Given the description of an element on the screen output the (x, y) to click on. 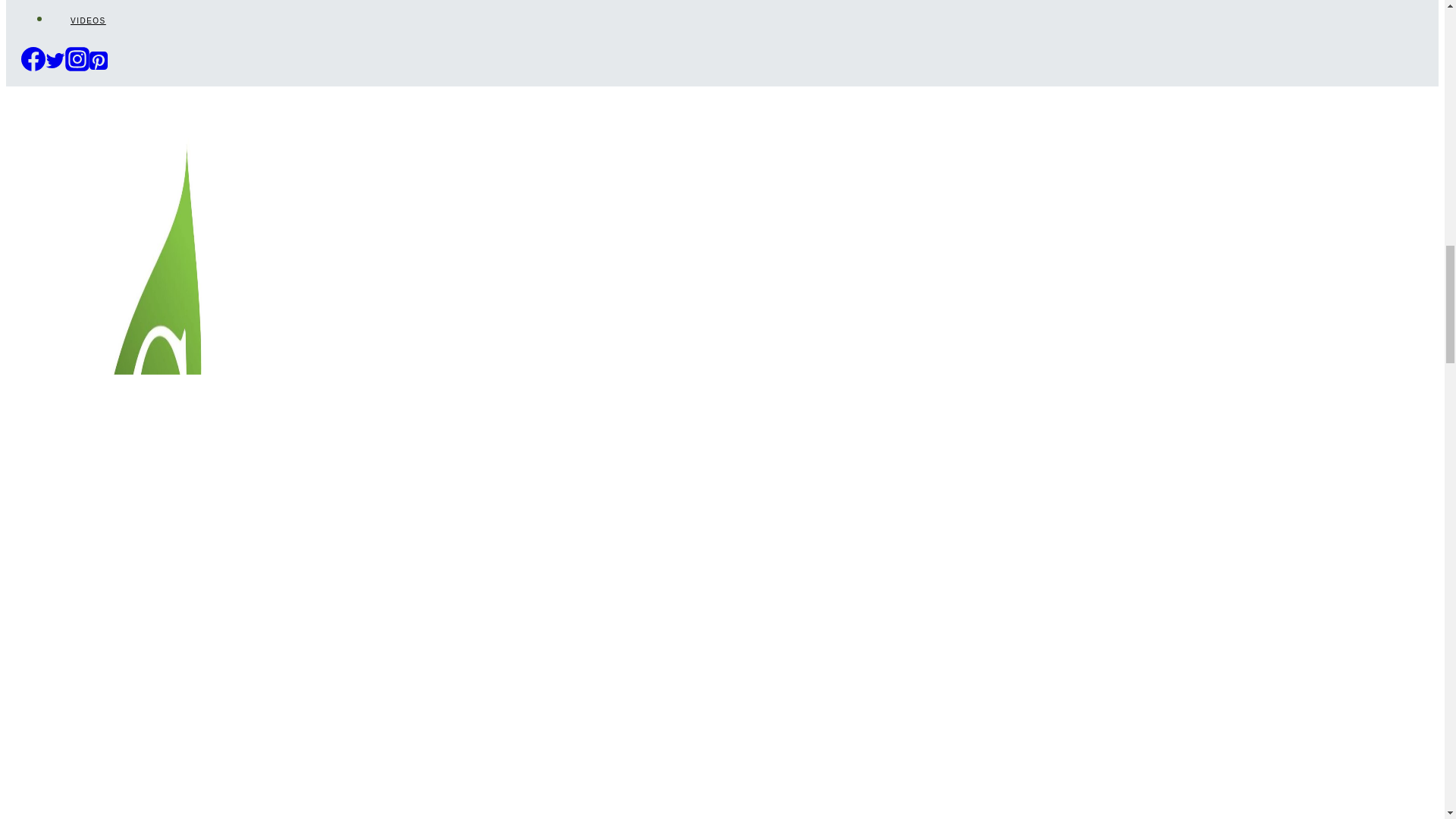
Facebook (33, 58)
Instagram (76, 58)
Twitter (55, 60)
